Given the description of an element on the screen output the (x, y) to click on. 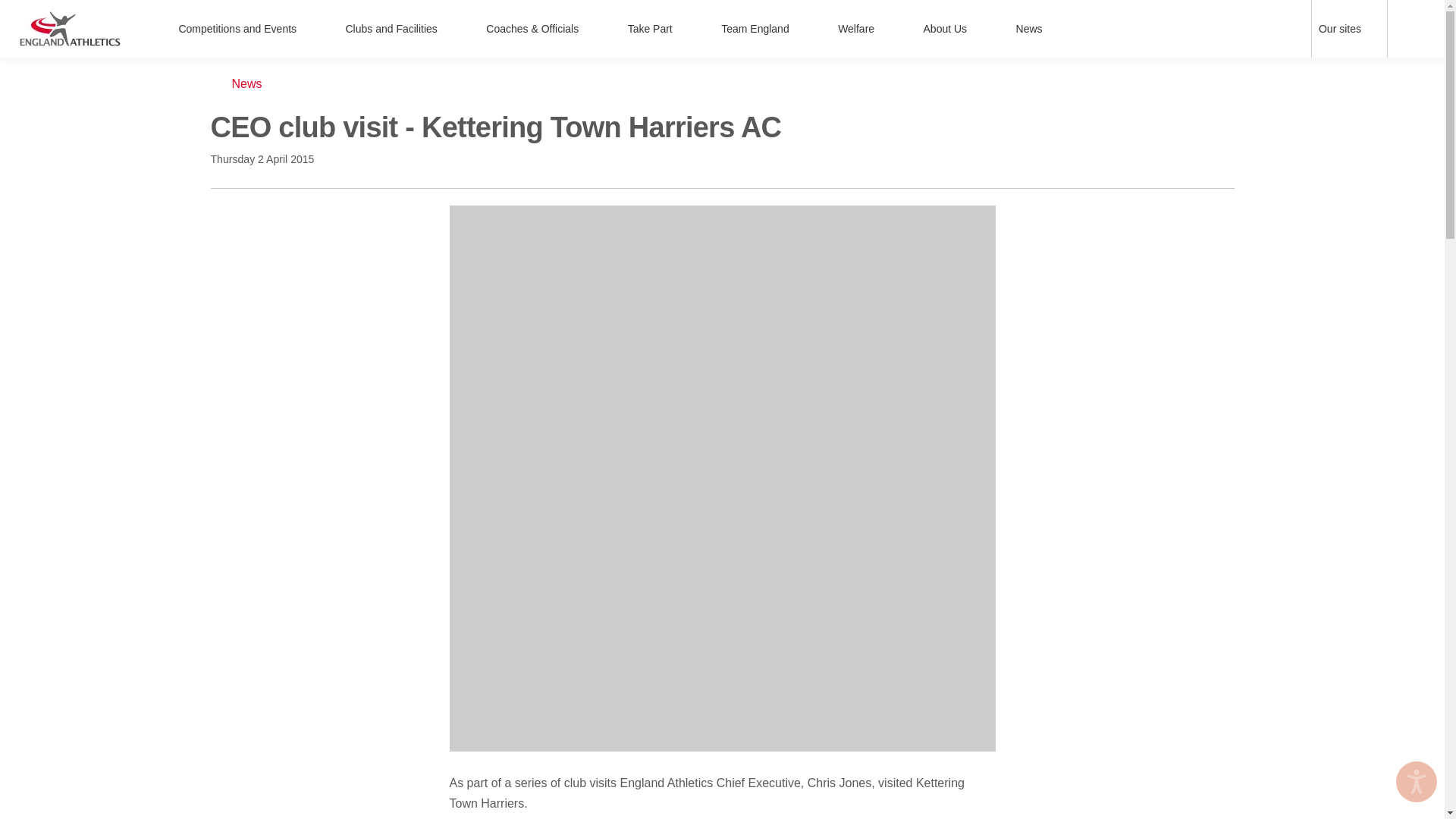
chevron-right (1373, 28)
chevron-right (591, 28)
chevron-right (309, 28)
Clubs and Facilities (400, 28)
chevron-right (887, 28)
chevron-right (802, 28)
England Athletics (69, 28)
chevron-right (450, 28)
Listen with the ReachDeck Toolbar (1416, 781)
